Given the description of an element on the screen output the (x, y) to click on. 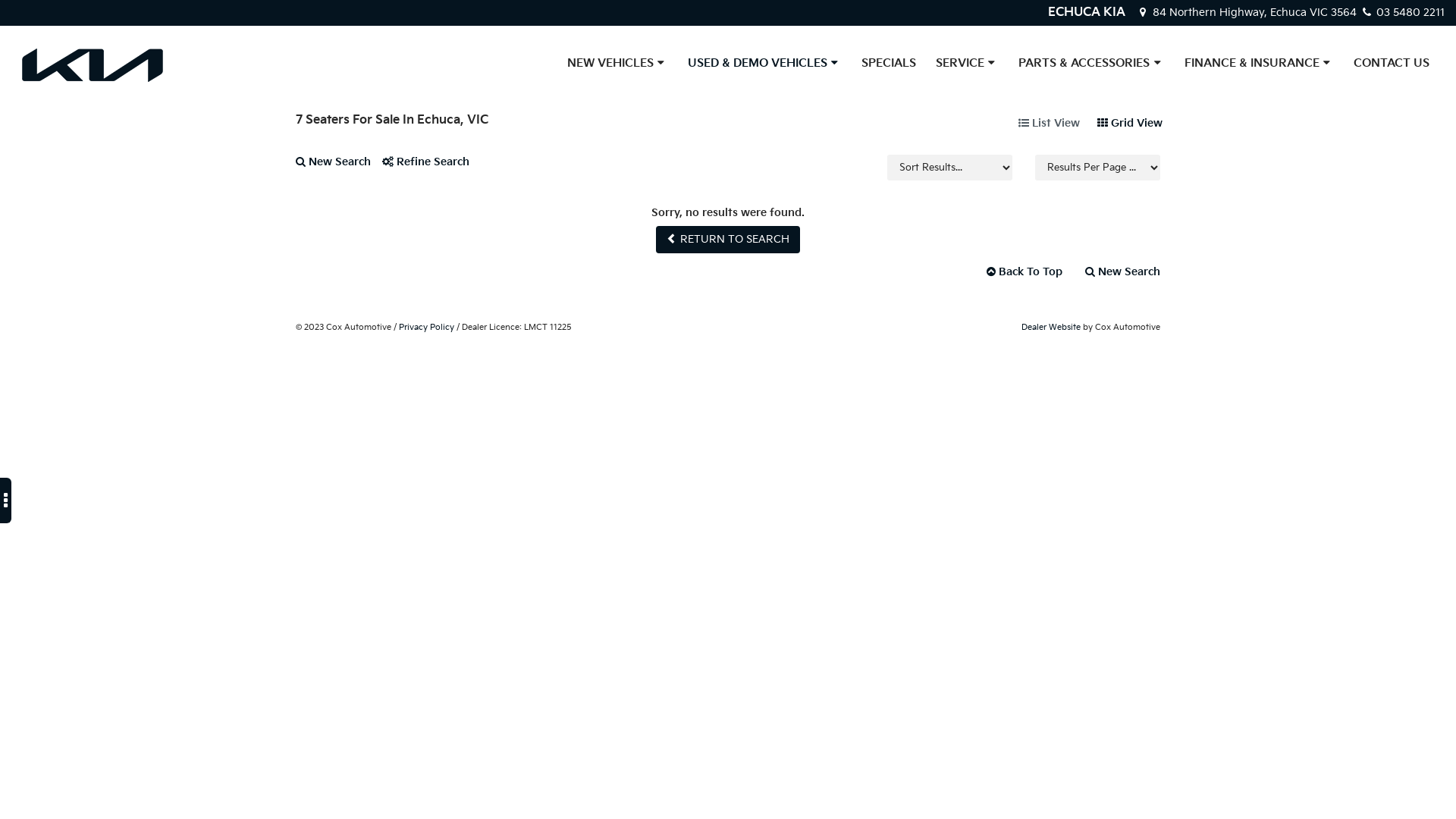
SERVICE Element type: text (966, 63)
Back To Top Element type: text (1024, 272)
ECHUCA KIA Element type: text (1086, 12)
CONTACT US Element type: text (1391, 63)
Grid View Element type: text (1129, 123)
Refine Search Element type: text (431, 167)
USED & DEMO VEHICLES Element type: text (764, 63)
New Search Element type: text (338, 167)
New Search Element type: text (1116, 272)
Dealer Website Element type: text (1050, 327)
List View Element type: text (1048, 123)
03 5480 2211 Element type: text (1401, 12)
84 Northern Highway, Echuca VIC 3564 Element type: text (1247, 12)
Privacy Policy Element type: text (426, 327)
RETURN TO SEARCH Element type: text (727, 239)
FINANCE & INSURANCE Element type: text (1258, 63)
PARTS & ACCESSORIES Element type: text (1090, 63)
NEW VEHICLES Element type: text (617, 63)
SPECIALS Element type: text (888, 63)
